Given the description of an element on the screen output the (x, y) to click on. 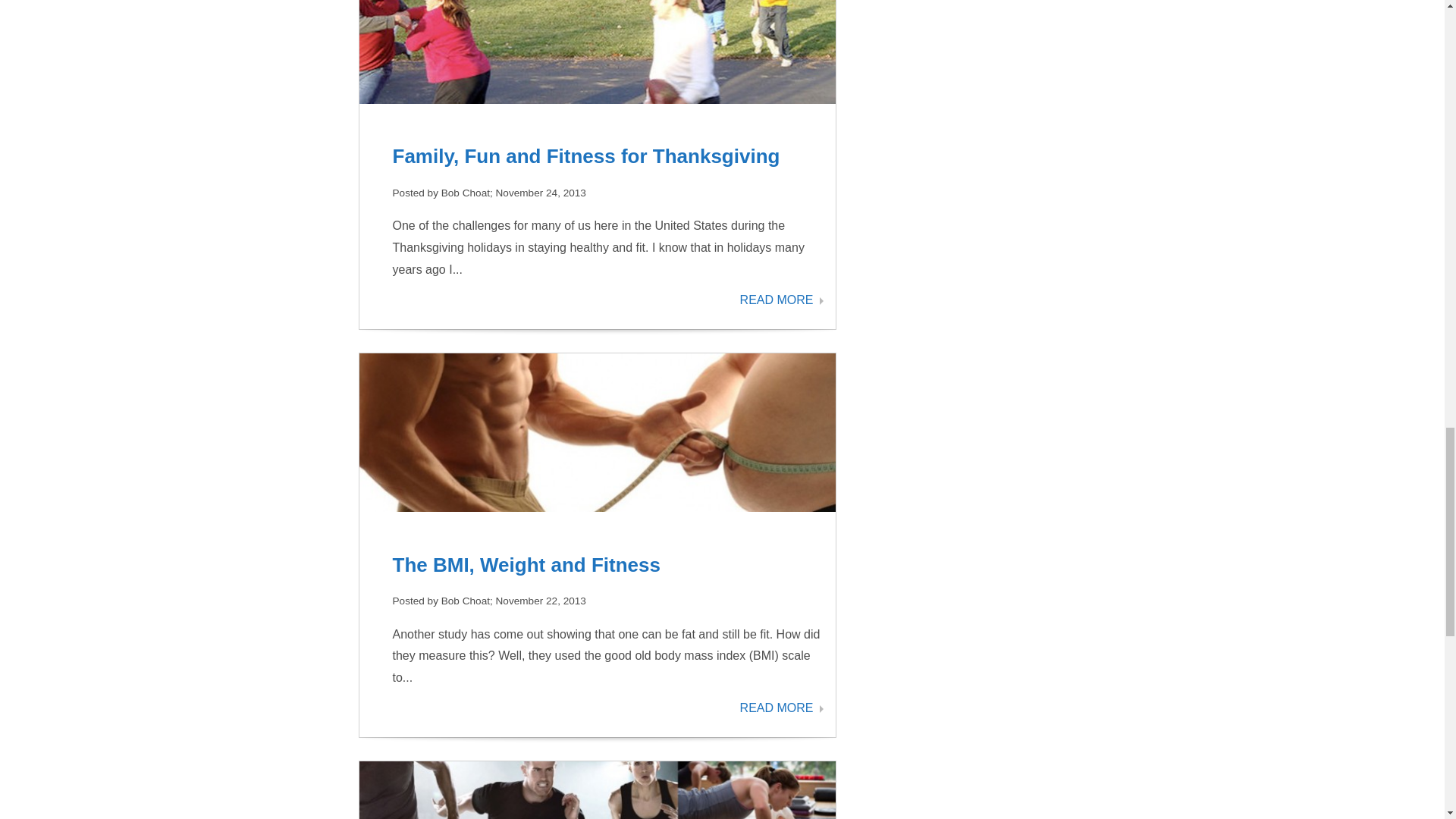
READ MORE (781, 300)
Family, Fun and Fitness for Thanksgiving (586, 155)
